Given the description of an element on the screen output the (x, y) to click on. 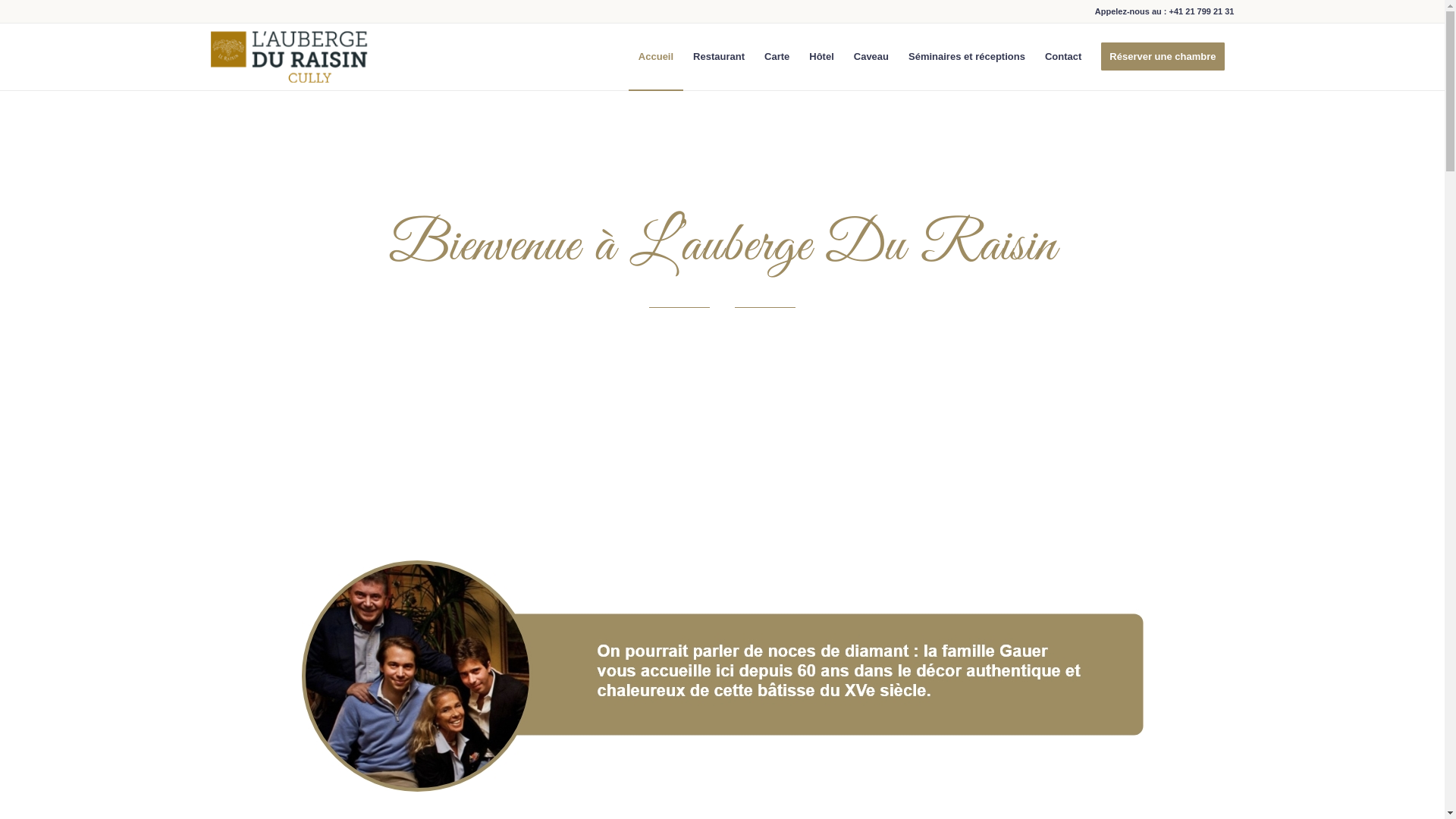
+41 21 799 21 31 Element type: text (1201, 10)
Carte Element type: text (776, 56)
Restaurant Element type: text (718, 56)
logo Element type: hover (291, 56)
Caveau Element type: text (871, 56)
Accueil Element type: text (655, 56)
Contact Element type: text (1063, 56)
